Given the description of an element on the screen output the (x, y) to click on. 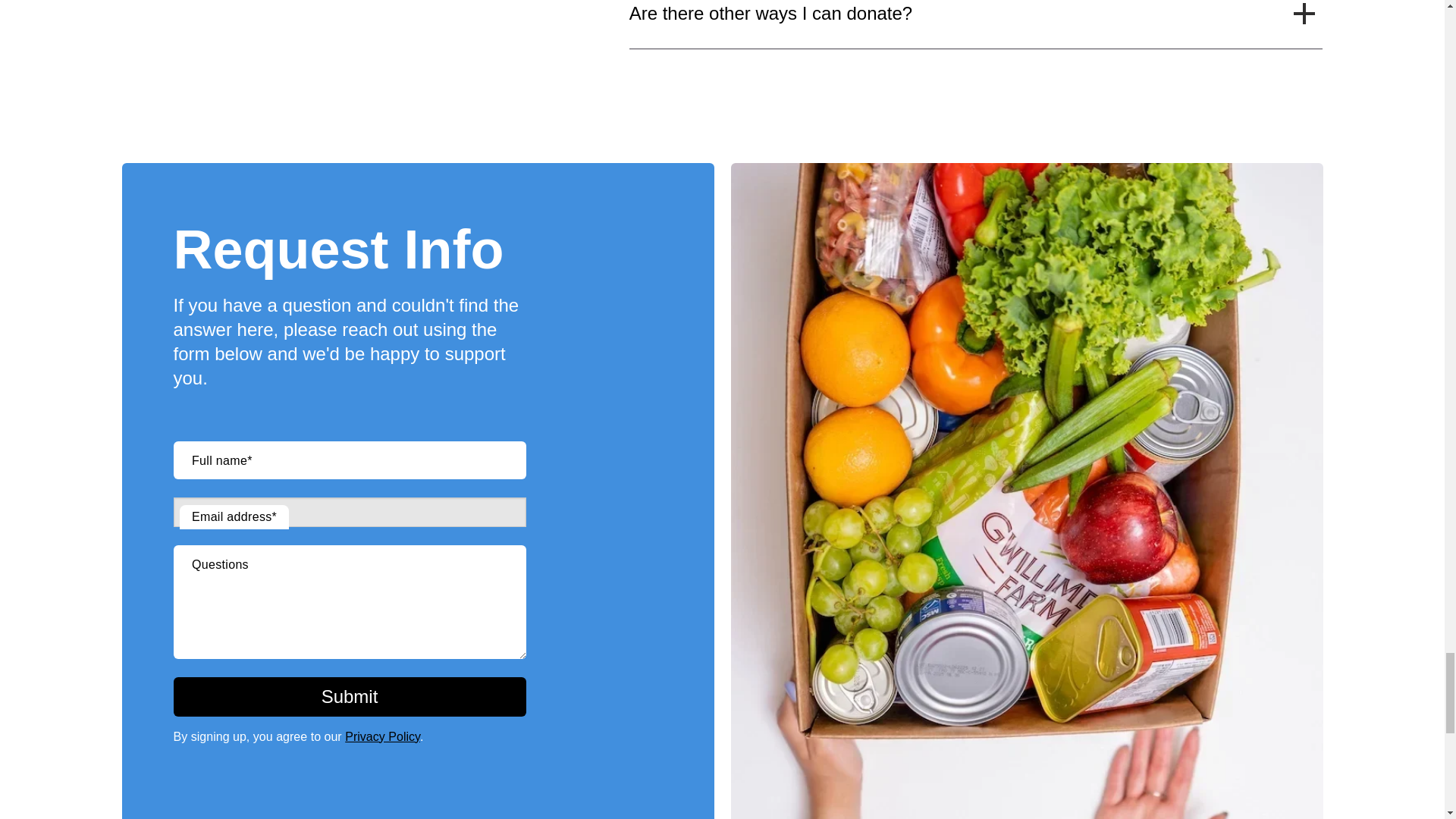
Submit (349, 696)
